Given the description of an element on the screen output the (x, y) to click on. 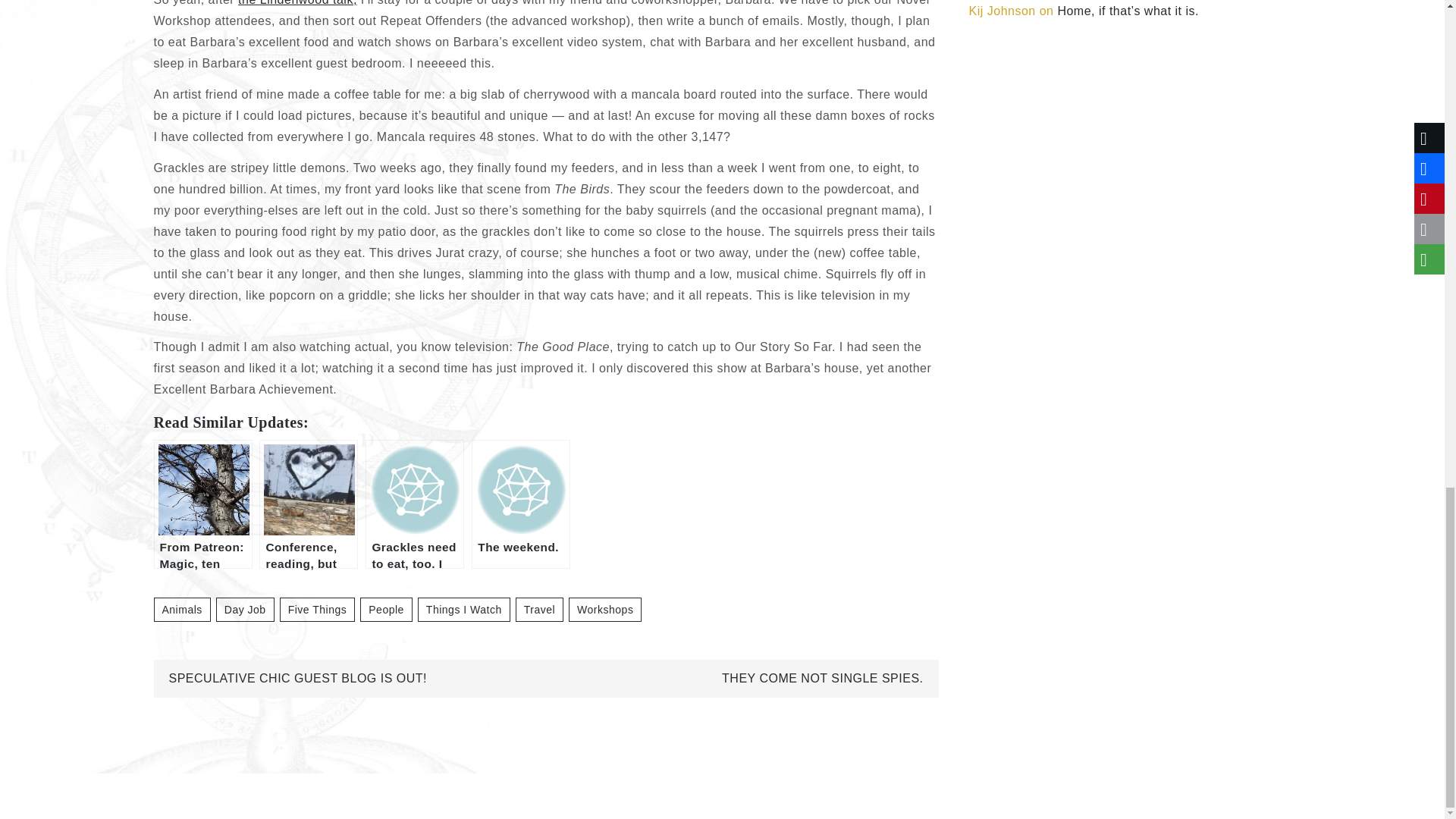
SPECULATIVE CHIC GUEST BLOG IS OUT! (297, 677)
Workshops (605, 609)
THEY COME NOT SINGLE SPIES. (822, 677)
Travel (539, 609)
Animals (180, 609)
the Lindenwood talk, (297, 2)
Day Job (245, 609)
Things I Watch (464, 609)
Five Things (317, 609)
People (385, 609)
